Given the description of an element on the screen output the (x, y) to click on. 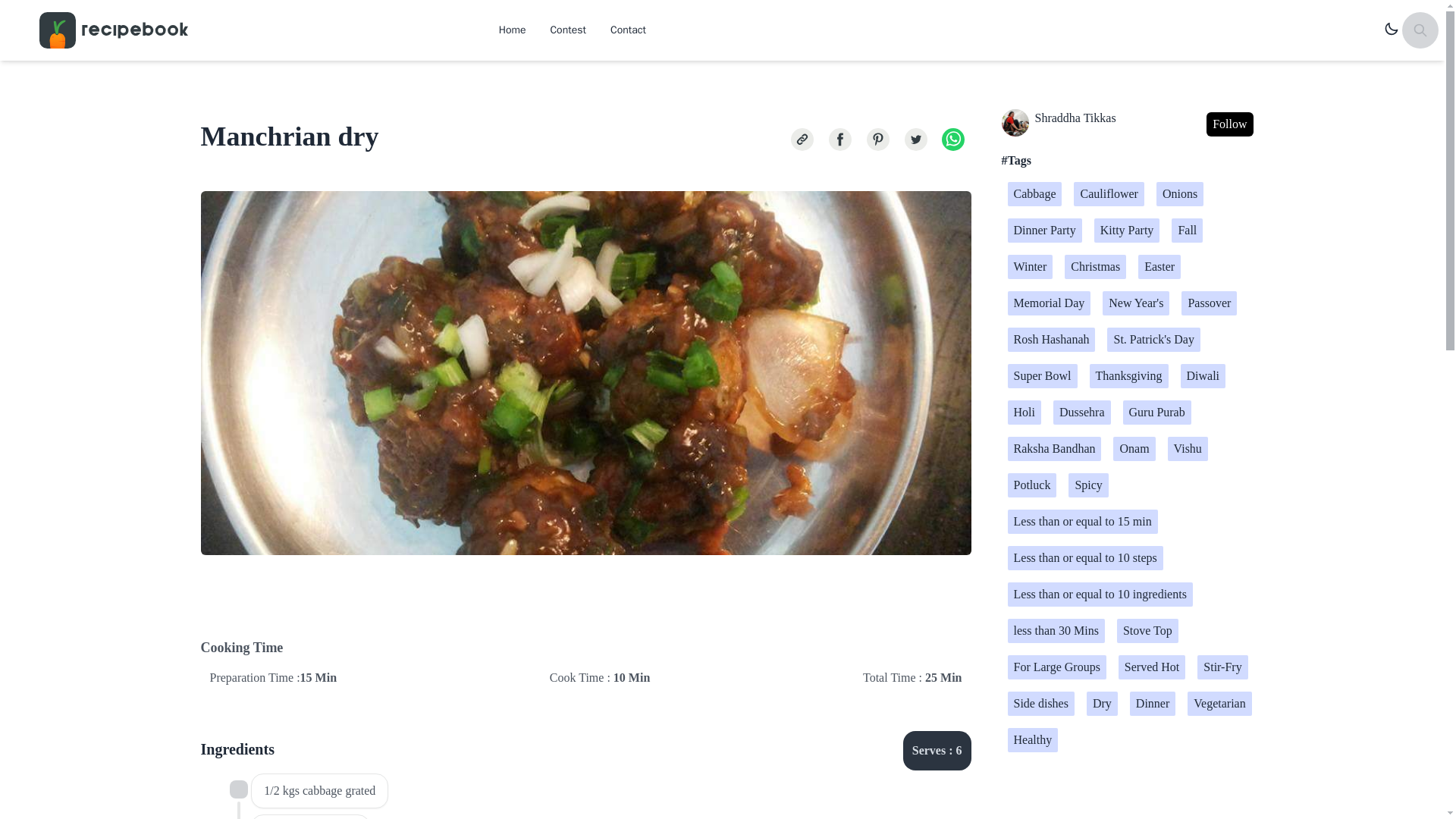
Super Bowl (1042, 375)
Potluck (1032, 485)
Guru Purab (1156, 412)
Onam (1133, 448)
on (238, 789)
Cabbage (1034, 193)
Less than or equal to 15 min (1082, 521)
Home (512, 30)
New Year's (1135, 303)
Dinner Party (1044, 230)
St. Patrick's Day (1152, 339)
synthwave (1393, 30)
Memorial Day (1048, 303)
Thanksgiving (1128, 375)
Shraddha Tikkas (1058, 124)
